Given the description of an element on the screen output the (x, y) to click on. 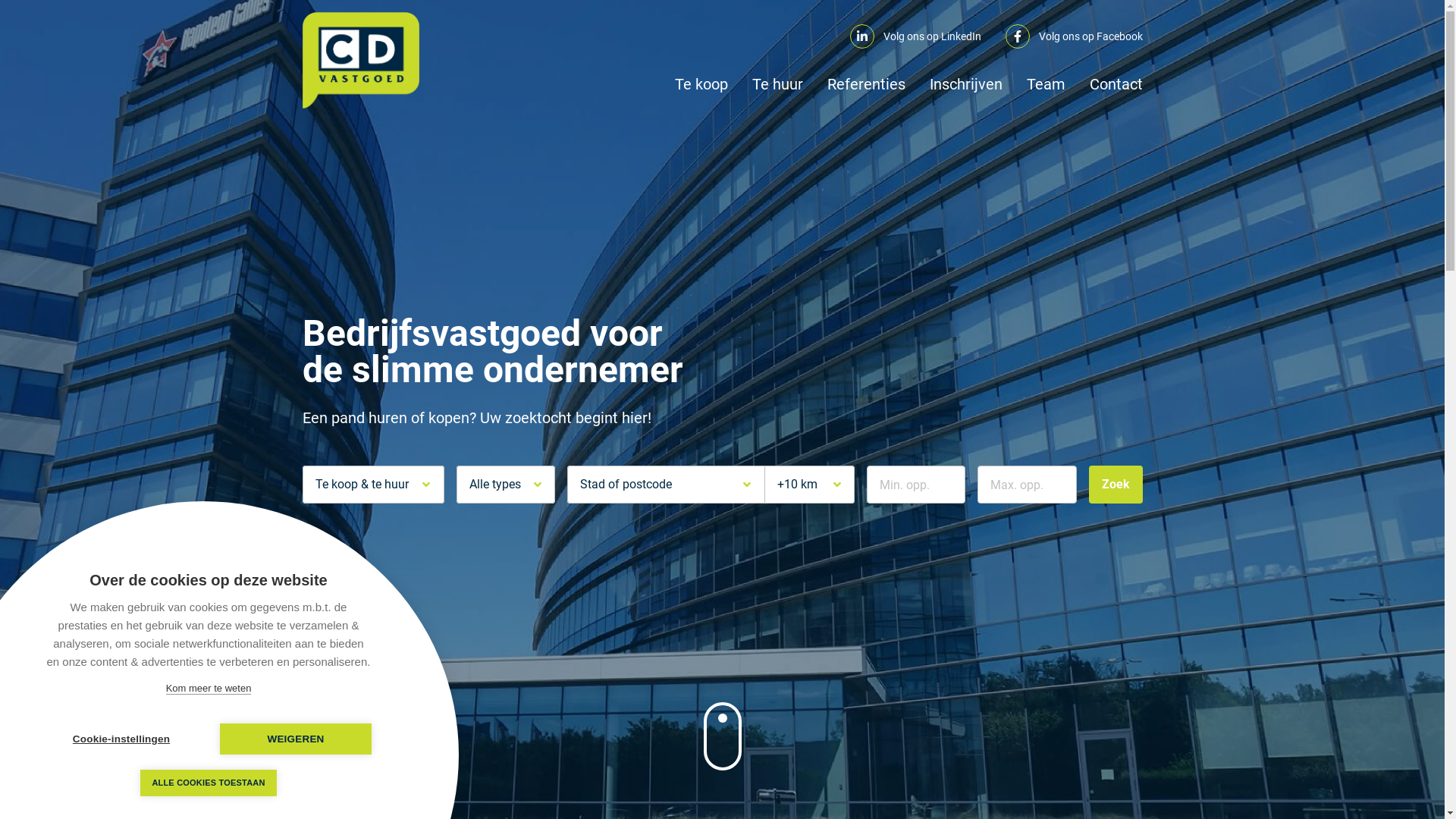
Volg ons op LinkedIn Element type: text (914, 36)
Cookie-instellingen Element type: text (121, 738)
Alle types Element type: text (505, 484)
Stad of postcode Element type: text (665, 484)
WEIGEREN Element type: text (295, 738)
Team Element type: text (1045, 83)
Menu overslaan en naar de inhoud gaan Element type: text (0, 0)
ALLE COOKIES TOESTAAN Element type: text (208, 782)
Te huur Element type: text (777, 83)
Link homepage Element type: hover (359, 61)
Kom meer te weten Element type: text (208, 688)
Inschrijven Element type: text (965, 83)
Referenties Element type: text (865, 83)
Te koop Element type: text (701, 83)
+10 km Element type: text (808, 484)
Contact Element type: text (1115, 83)
Te koop & te huur Element type: text (372, 484)
Volg ons op Facebook Element type: text (1073, 36)
Zoek Element type: text (1115, 484)
